Given the description of an element on the screen output the (x, y) to click on. 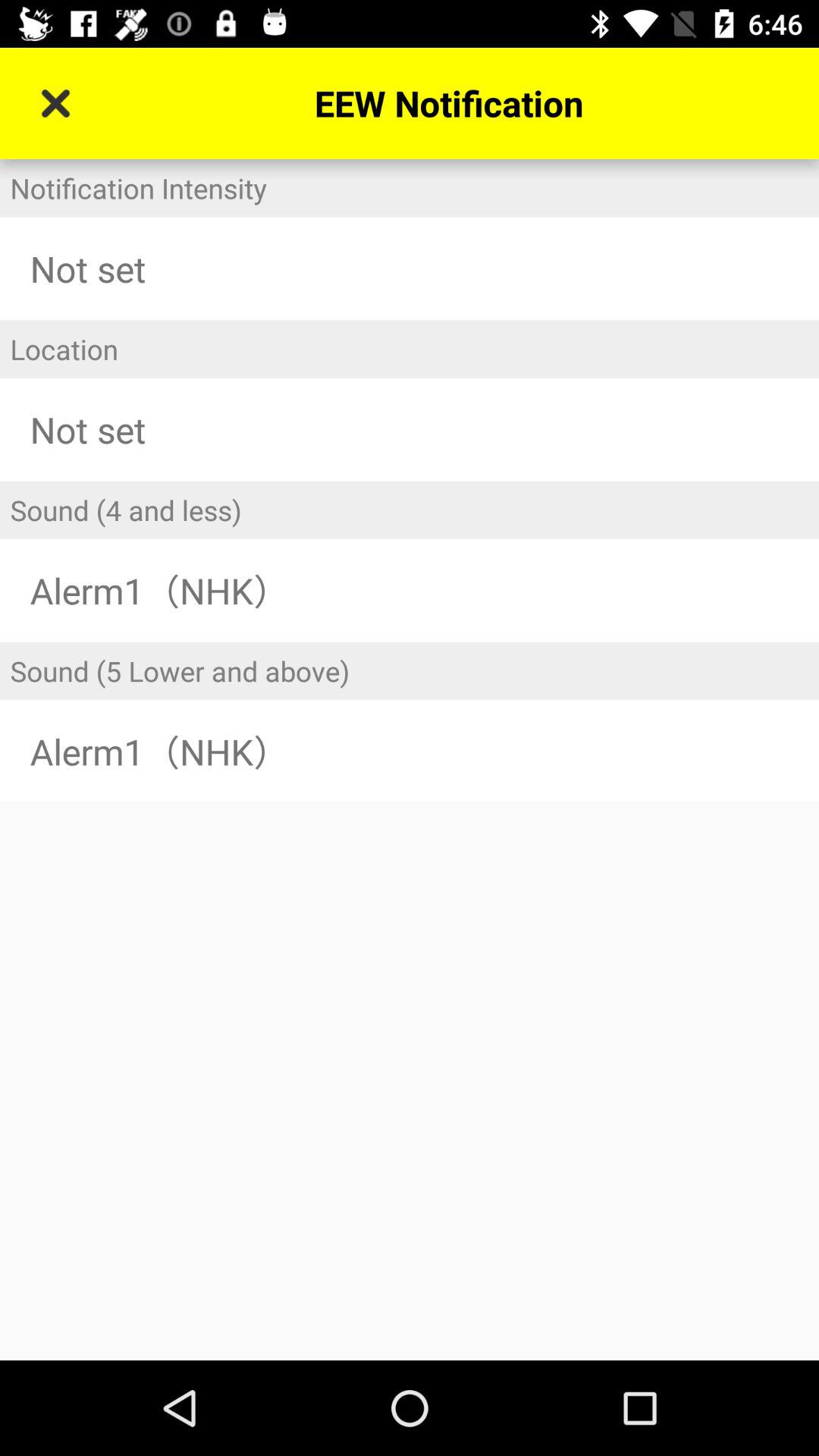
launch the item to the left of eew notification icon (55, 103)
